Given the description of an element on the screen output the (x, y) to click on. 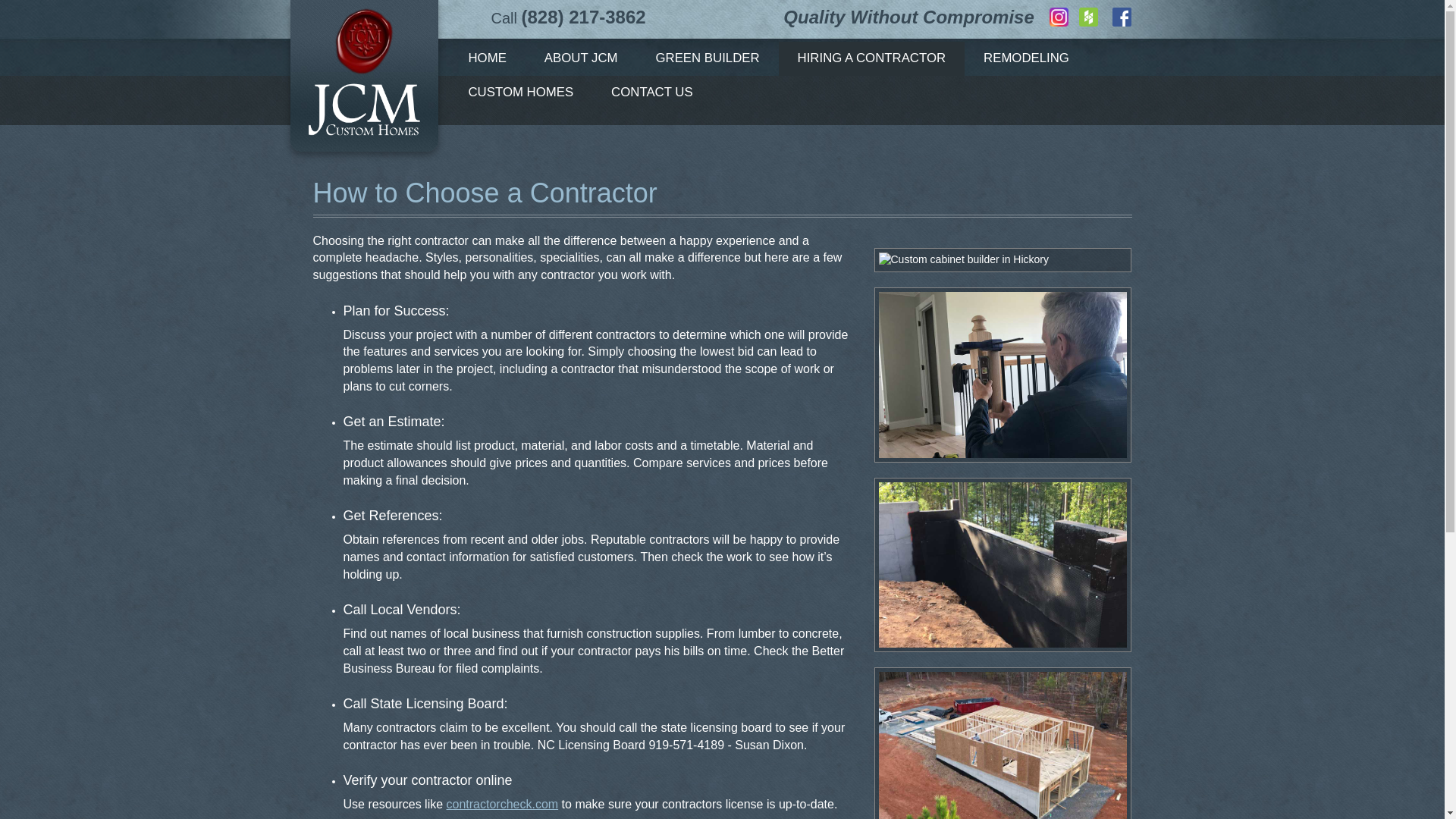
Extremely clean jobsites (1001, 745)
Hargenrader Cabinet shop (962, 259)
Custom stair builder (1001, 374)
contractorcheck.com (502, 803)
HOME (486, 58)
GREEN BUILDER (707, 58)
CUSTOM HOMES (520, 92)
REMODELING (1025, 58)
Waterproofing below grade (1001, 565)
ABOUT JCM (581, 58)
HIRING A CONTRACTOR (871, 58)
CONTACT US (651, 92)
